Given the description of an element on the screen output the (x, y) to click on. 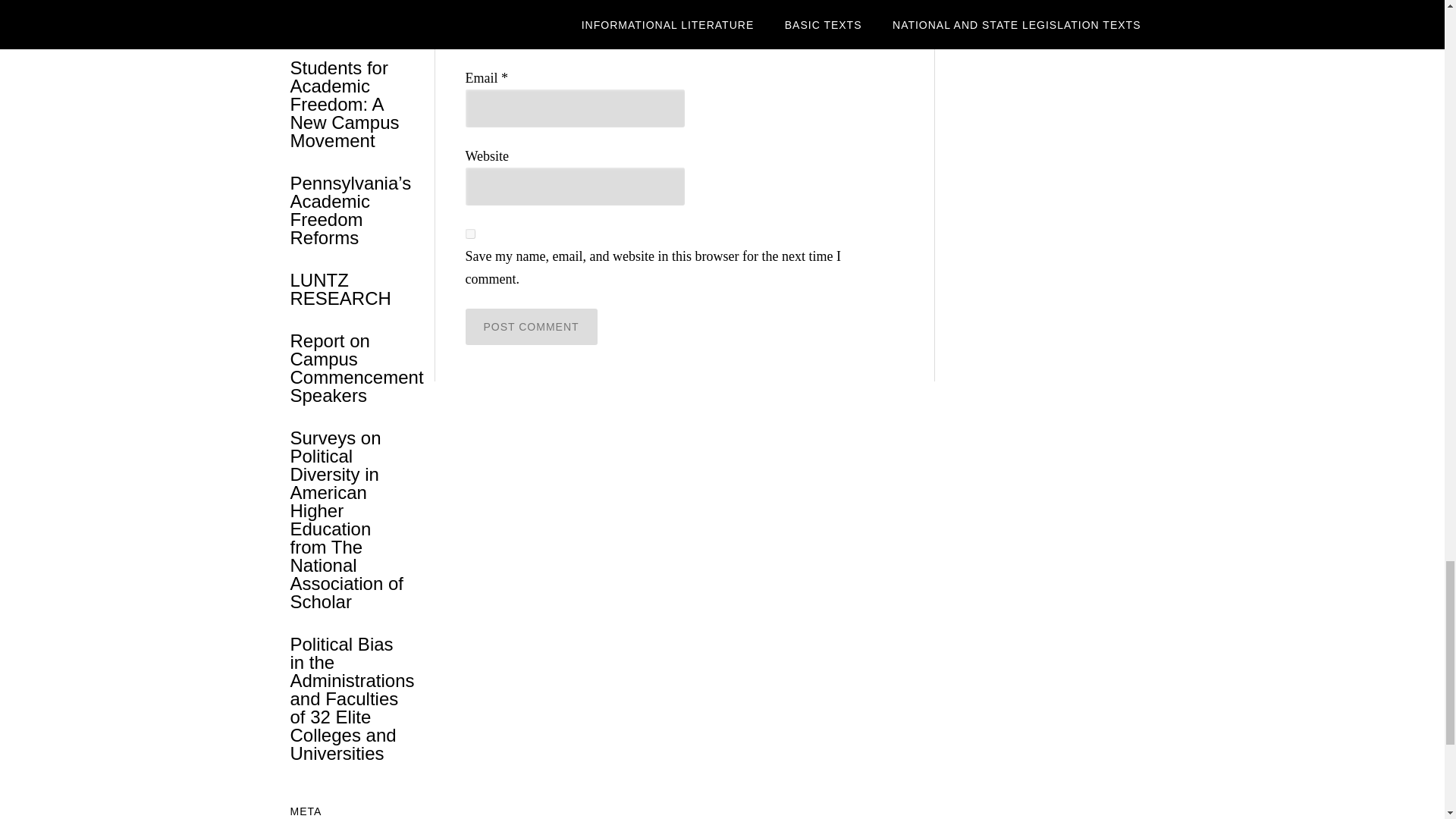
Post Comment (530, 326)
yes (470, 234)
Post Comment (530, 326)
